Given the description of an element on the screen output the (x, y) to click on. 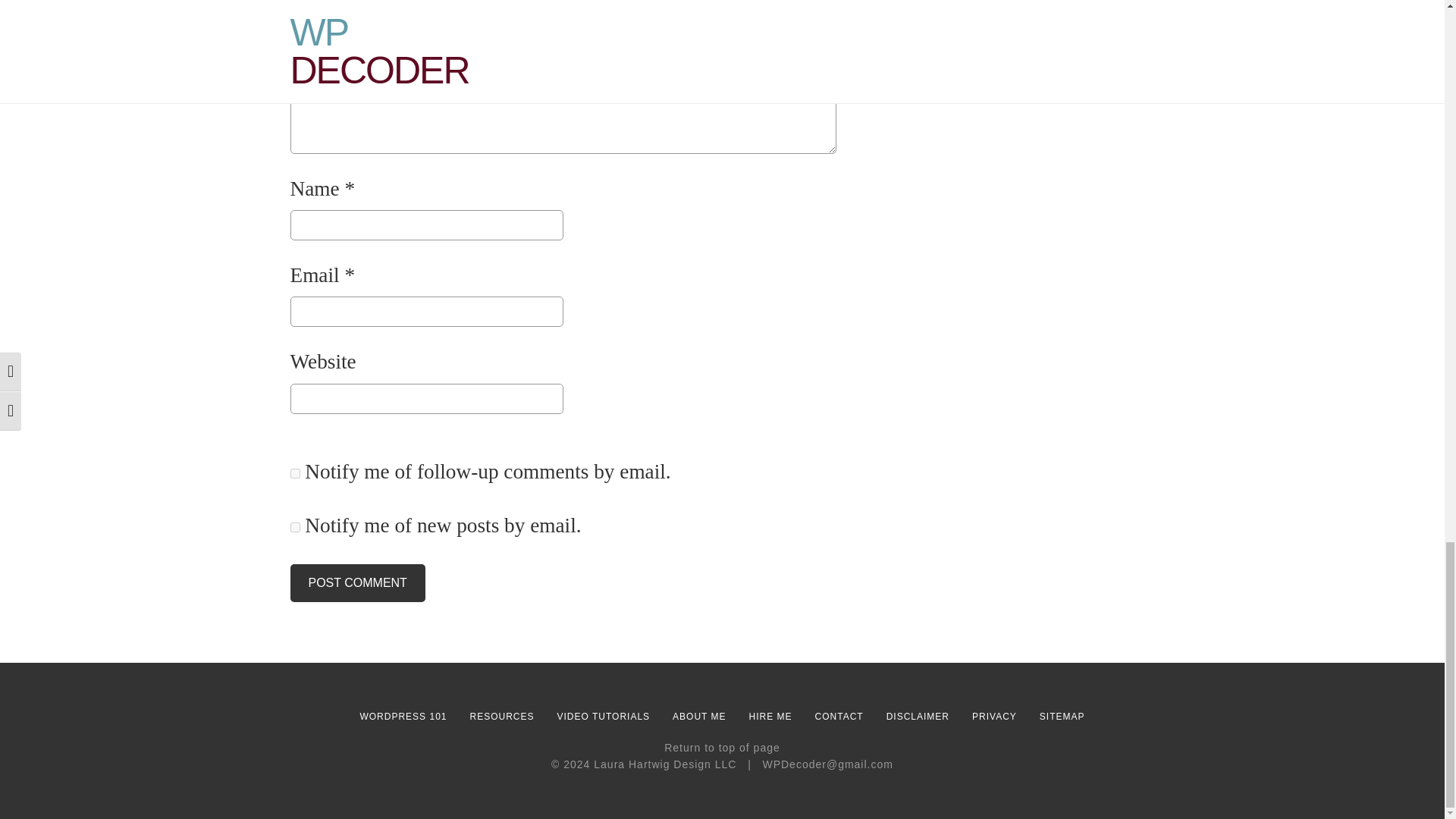
subscribe (294, 527)
Post Comment (357, 582)
subscribe (294, 473)
Post Comment (357, 582)
